Given the description of an element on the screen output the (x, y) to click on. 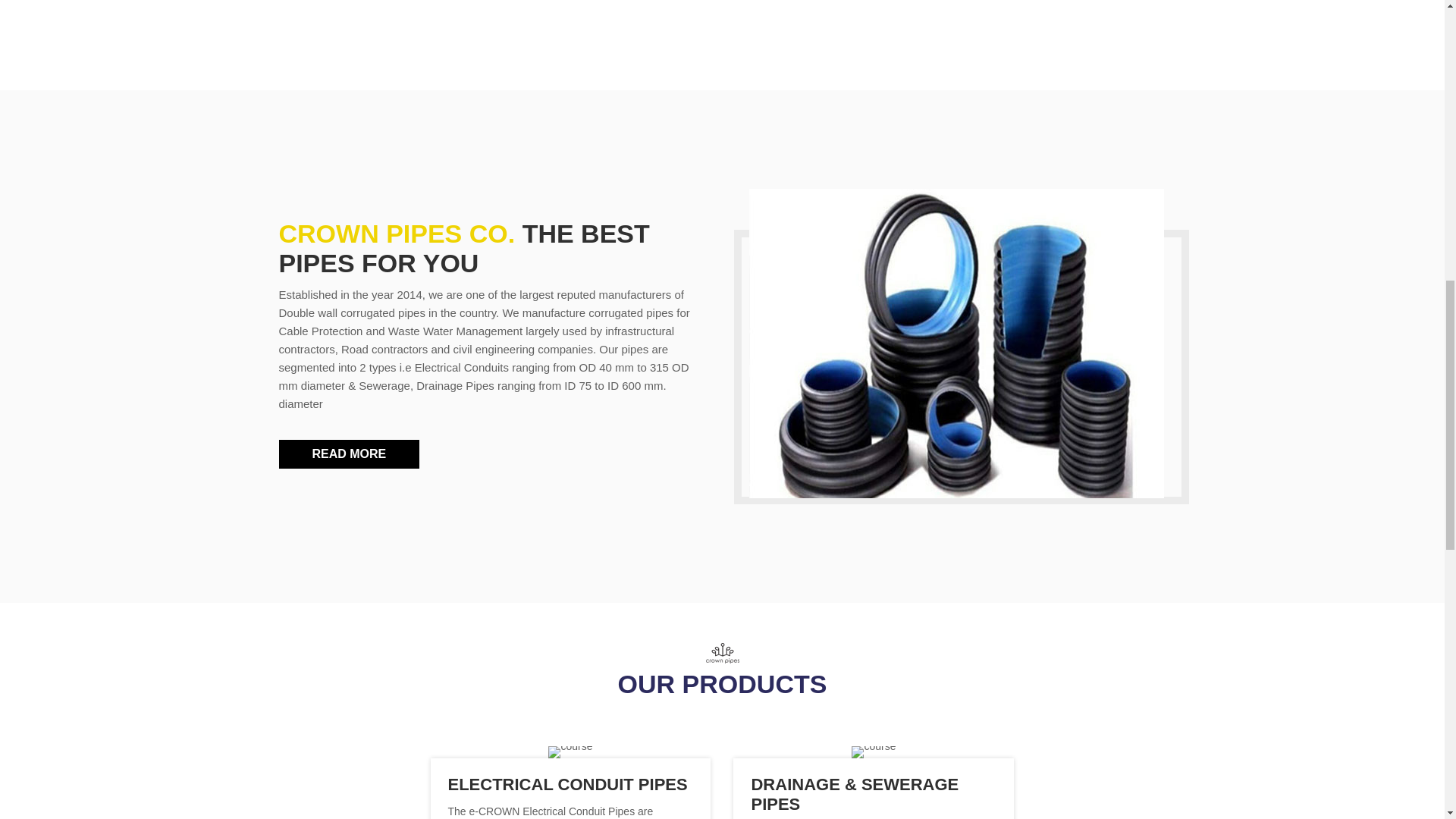
READ MORE (349, 453)
ELECTRICAL CONDUIT PIPES (566, 783)
